Given the description of an element on the screen output the (x, y) to click on. 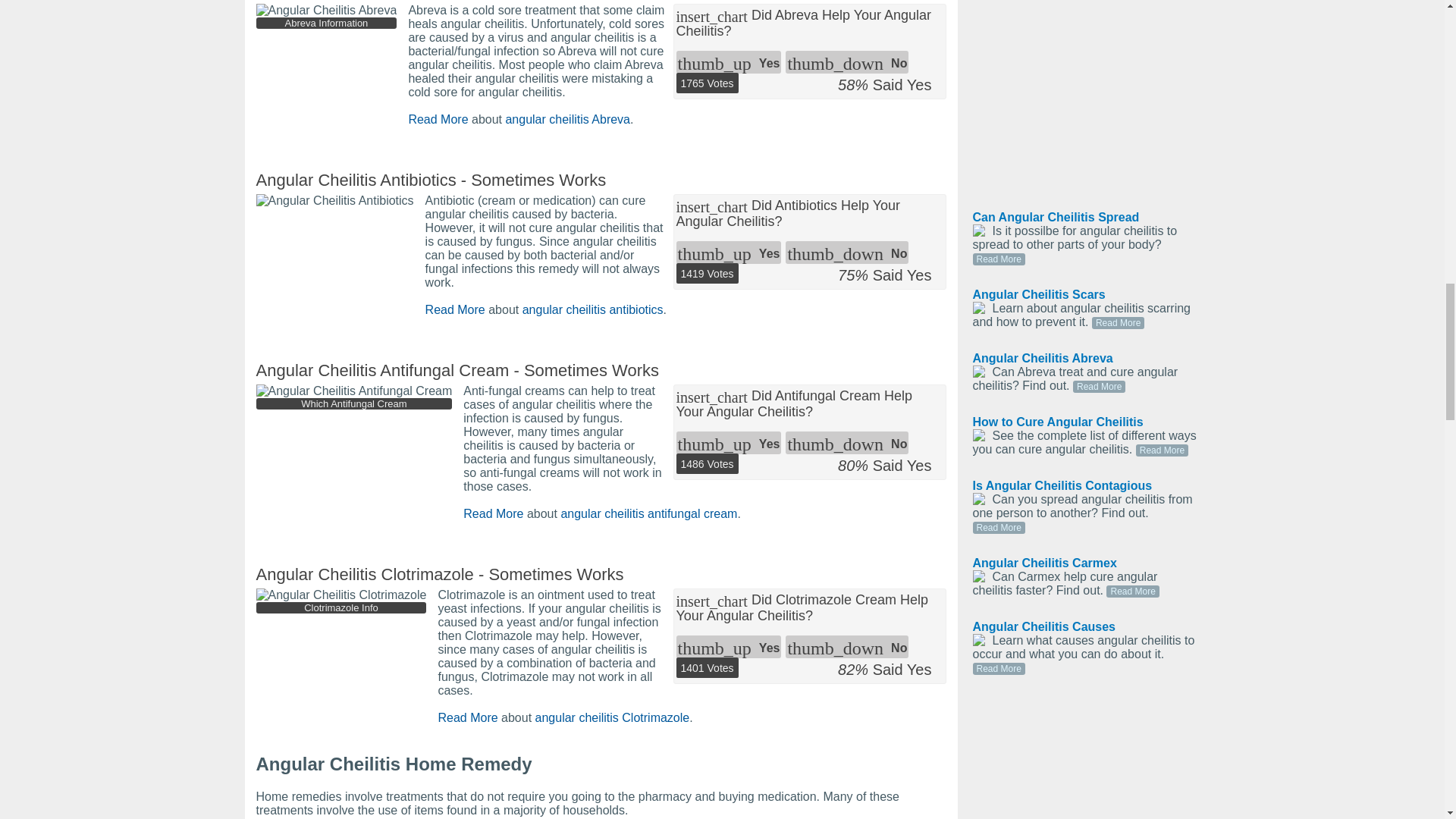
angular cheilitis antibiotics (592, 309)
angular cheilitis Clotrimazole (612, 717)
Read More (492, 513)
Read More (454, 309)
Read More (437, 119)
angular cheilitis antifungal cream (648, 513)
angular cheilitis Abreva (567, 119)
Read More (467, 717)
